Given the description of an element on the screen output the (x, y) to click on. 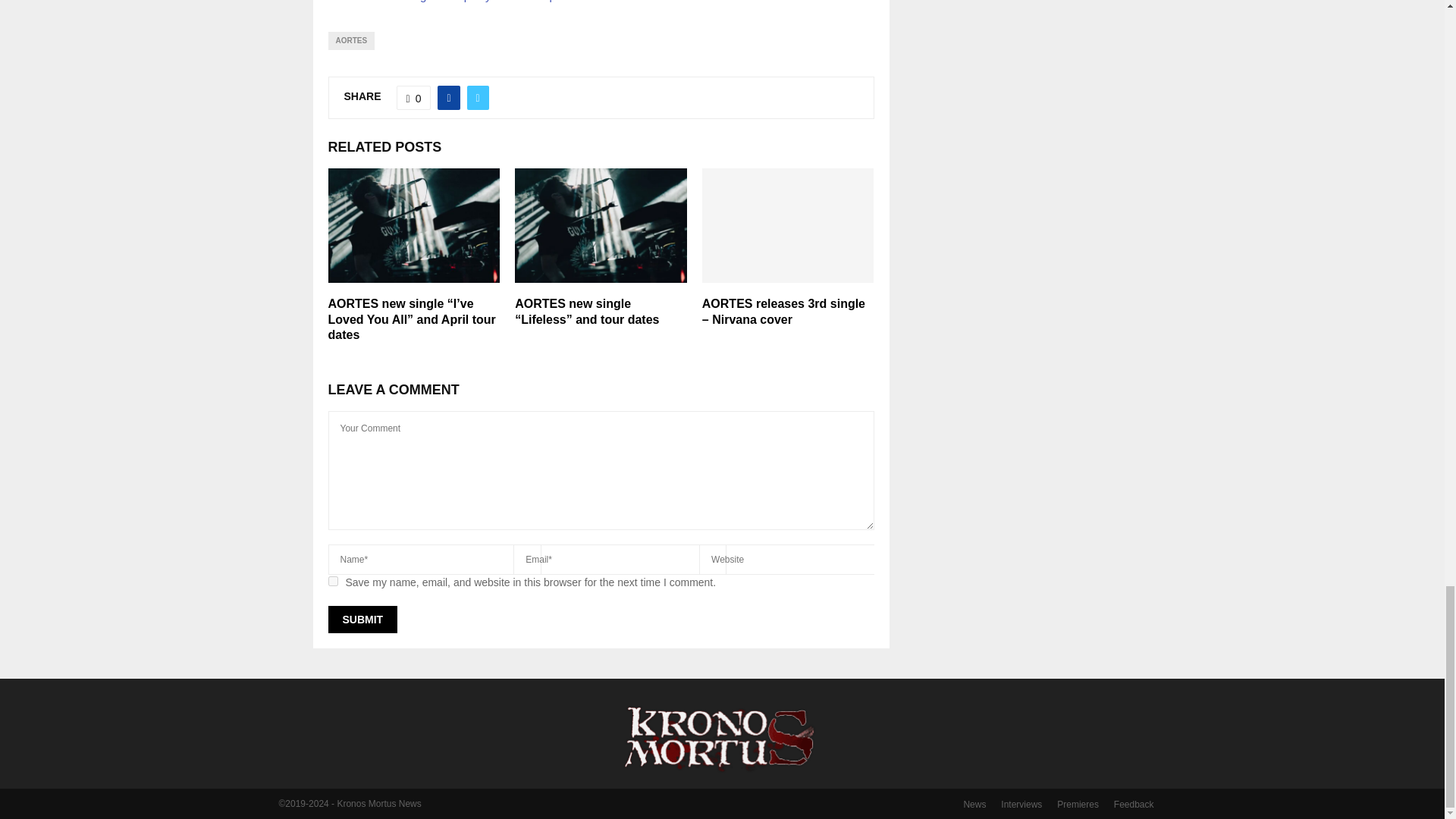
Submit (362, 619)
0 (413, 97)
Instagram (419, 1)
Like (413, 97)
Spotify (474, 1)
Bandcamp (528, 1)
yes (332, 581)
AORTES (350, 40)
Submit (362, 619)
Facebook (359, 1)
